Given the description of an element on the screen output the (x, y) to click on. 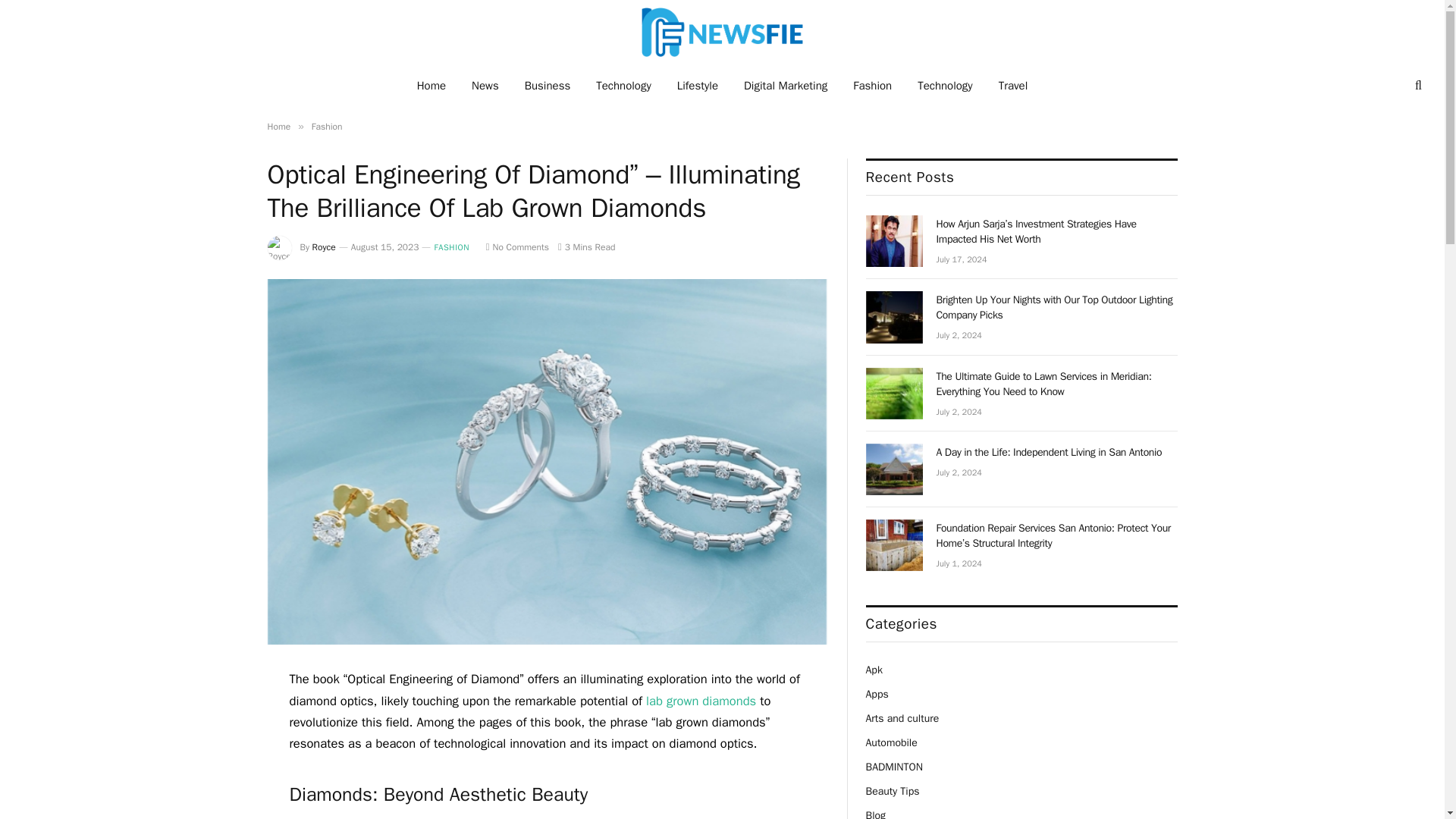
Posts by Royce (324, 246)
